Given the description of an element on the screen output the (x, y) to click on. 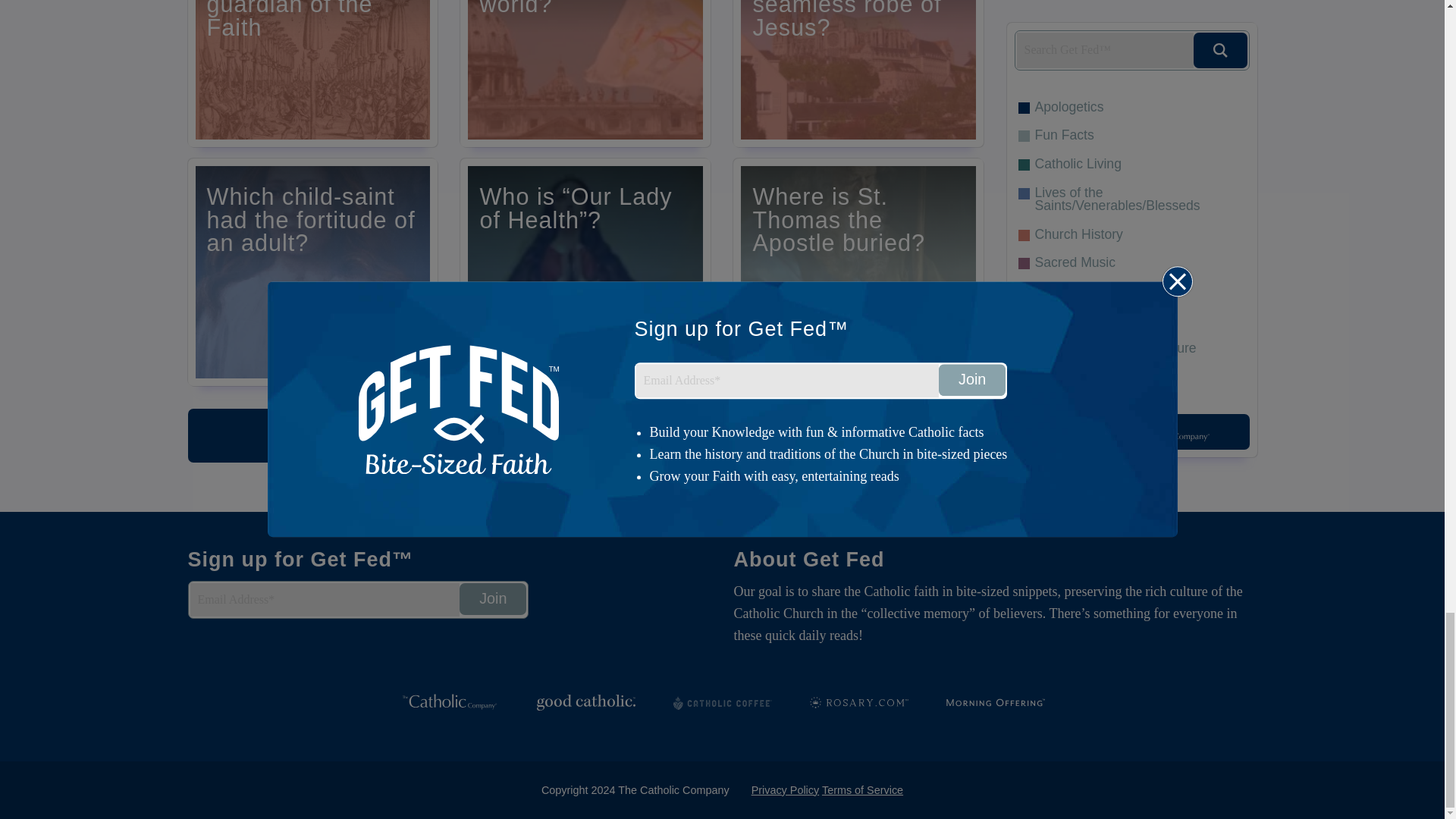
Where is the oldest bible in the world? (585, 73)
Load More (585, 435)
Do we know what happened to the seamless robe of Jesus? (858, 73)
Join (492, 599)
The prisoner-guard who became a guardian of the Faith (312, 73)
Where is St. Thomas the Apostle buried? (858, 271)
Join (492, 599)
Which child-saint had the fortitude of an adult? (312, 271)
